Given the description of an element on the screen output the (x, y) to click on. 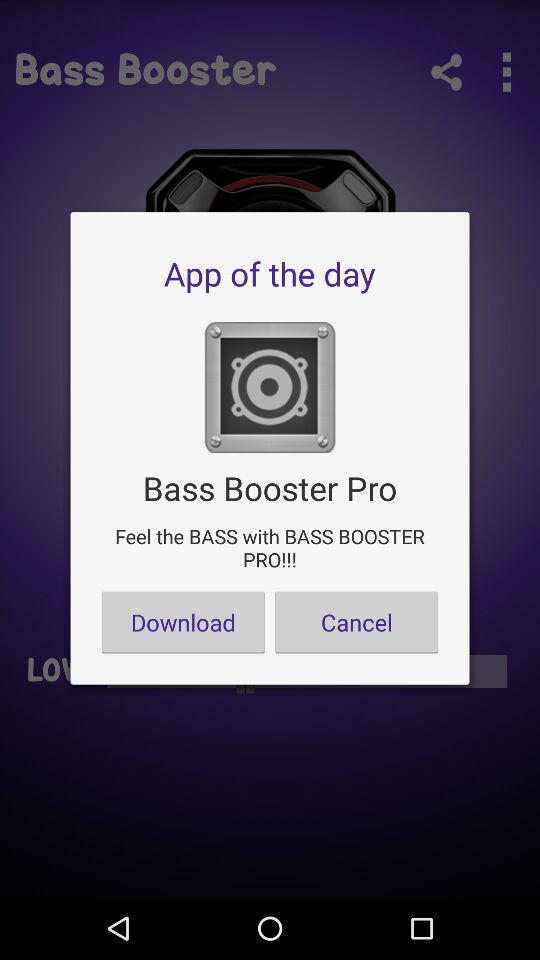
tap app below feel the bass (356, 622)
